Given the description of an element on the screen output the (x, y) to click on. 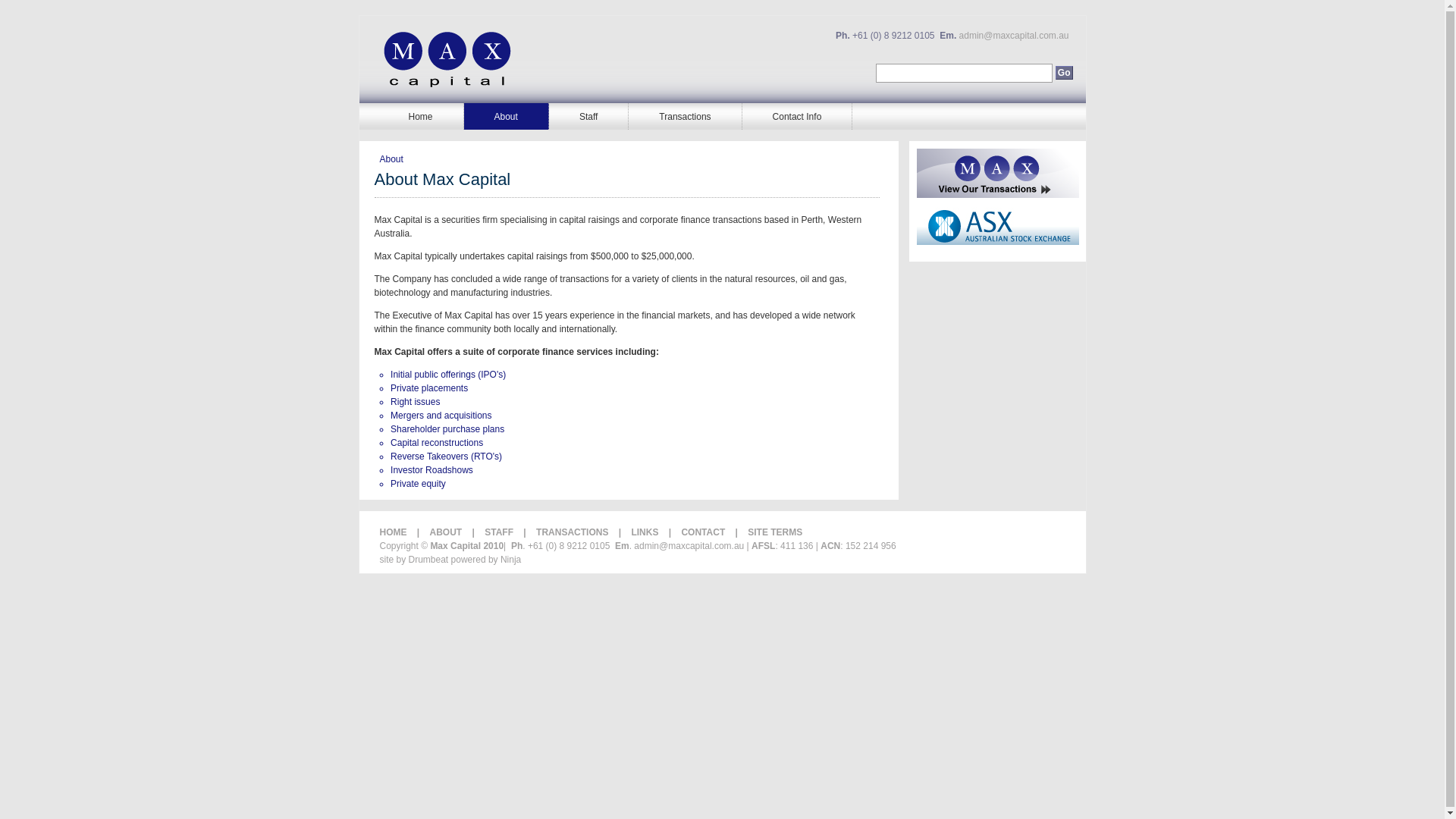
Home Element type: text (420, 116)
Drumbeat Element type: text (428, 559)
STAFF Element type: text (498, 532)
Transactions Element type: text (684, 116)
admin@maxcapital.com.au Element type: text (1014, 35)
ABOUT Element type: text (445, 532)
SITE TERMS Element type: text (774, 532)
HOME Element type: text (392, 532)
admin@maxcapital.com.au Element type: text (688, 545)
LINKS Element type: text (644, 532)
CONTACT Element type: text (702, 532)
TRANSACTIONS Element type: text (572, 532)
Staff Element type: text (588, 116)
About Element type: text (390, 158)
Ninja Element type: text (510, 559)
About Element type: text (506, 116)
Go Element type: text (1064, 72)
Contact Info Element type: text (797, 116)
